Given the description of an element on the screen output the (x, y) to click on. 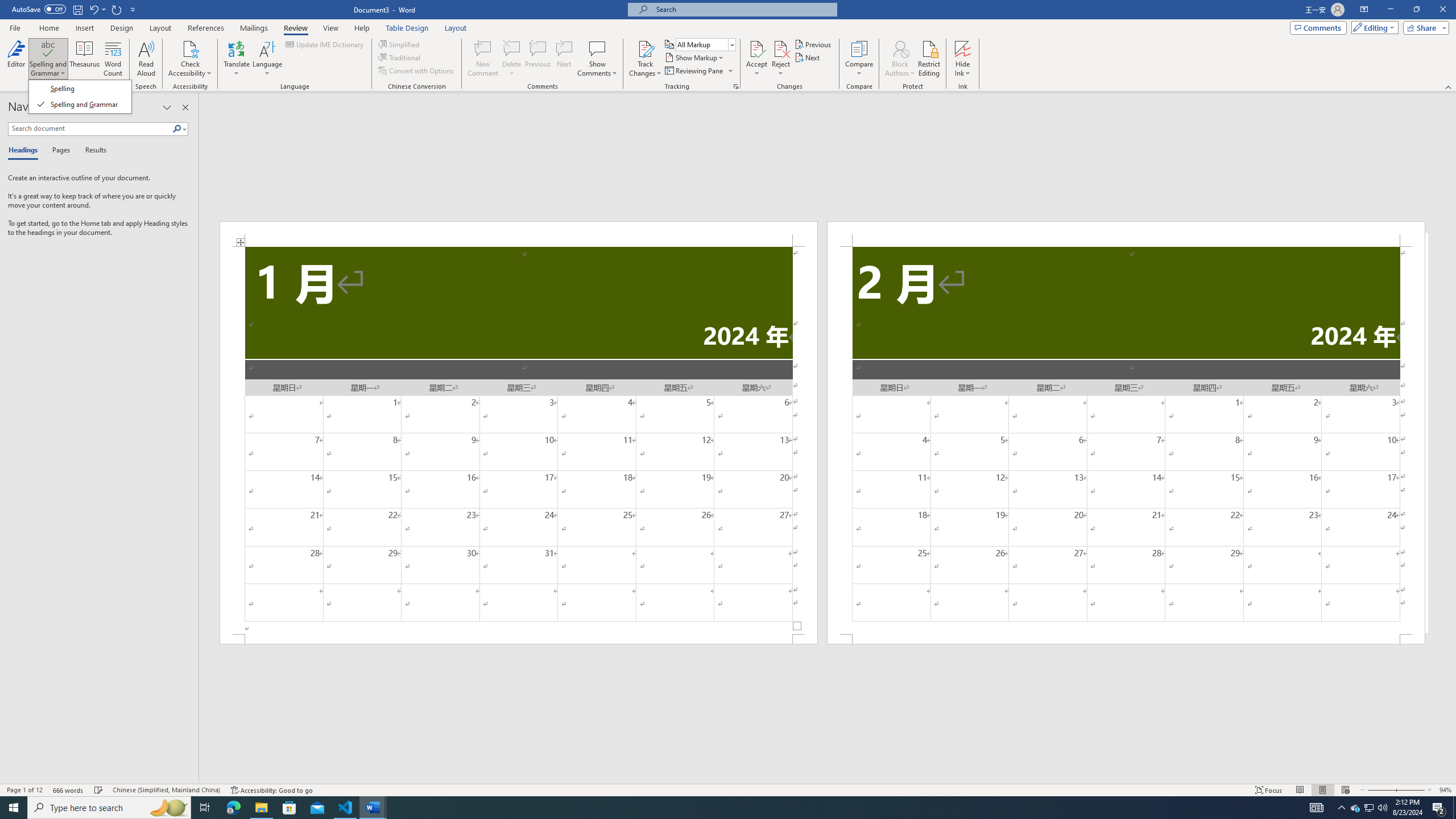
Track Changes (644, 58)
Spelling and Grammar (48, 48)
